Given the description of an element on the screen output the (x, y) to click on. 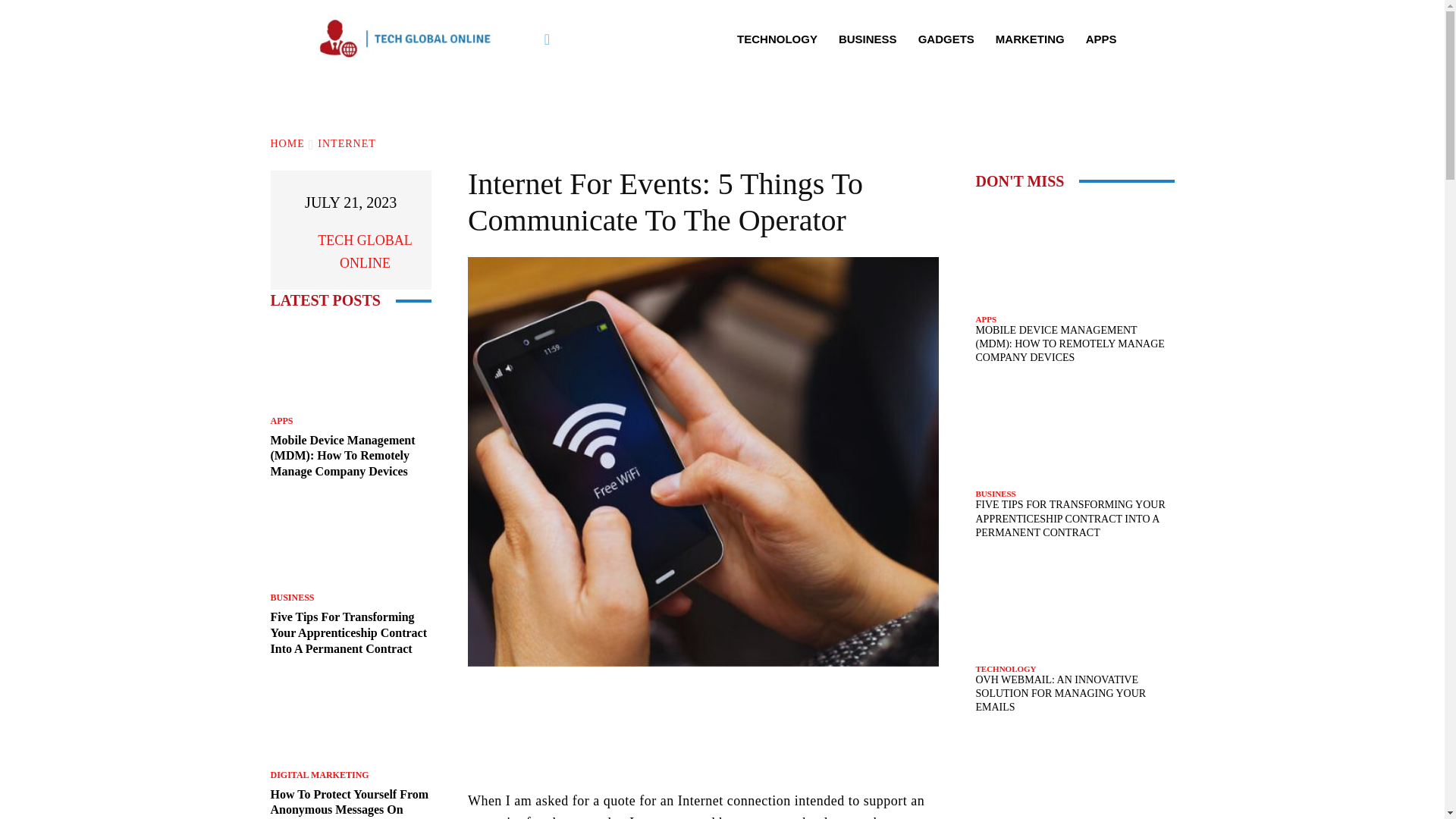
MARKETING (1030, 39)
BUSINESS (867, 39)
APPS (1100, 39)
View all posts in INTERNET (346, 143)
INTERNET (346, 143)
TECH GLOBAL ONLINE (364, 251)
Tech Global Online (290, 251)
TECHNOLOGY (777, 39)
HOME (286, 143)
GADGETS (946, 39)
